Given the description of an element on the screen output the (x, y) to click on. 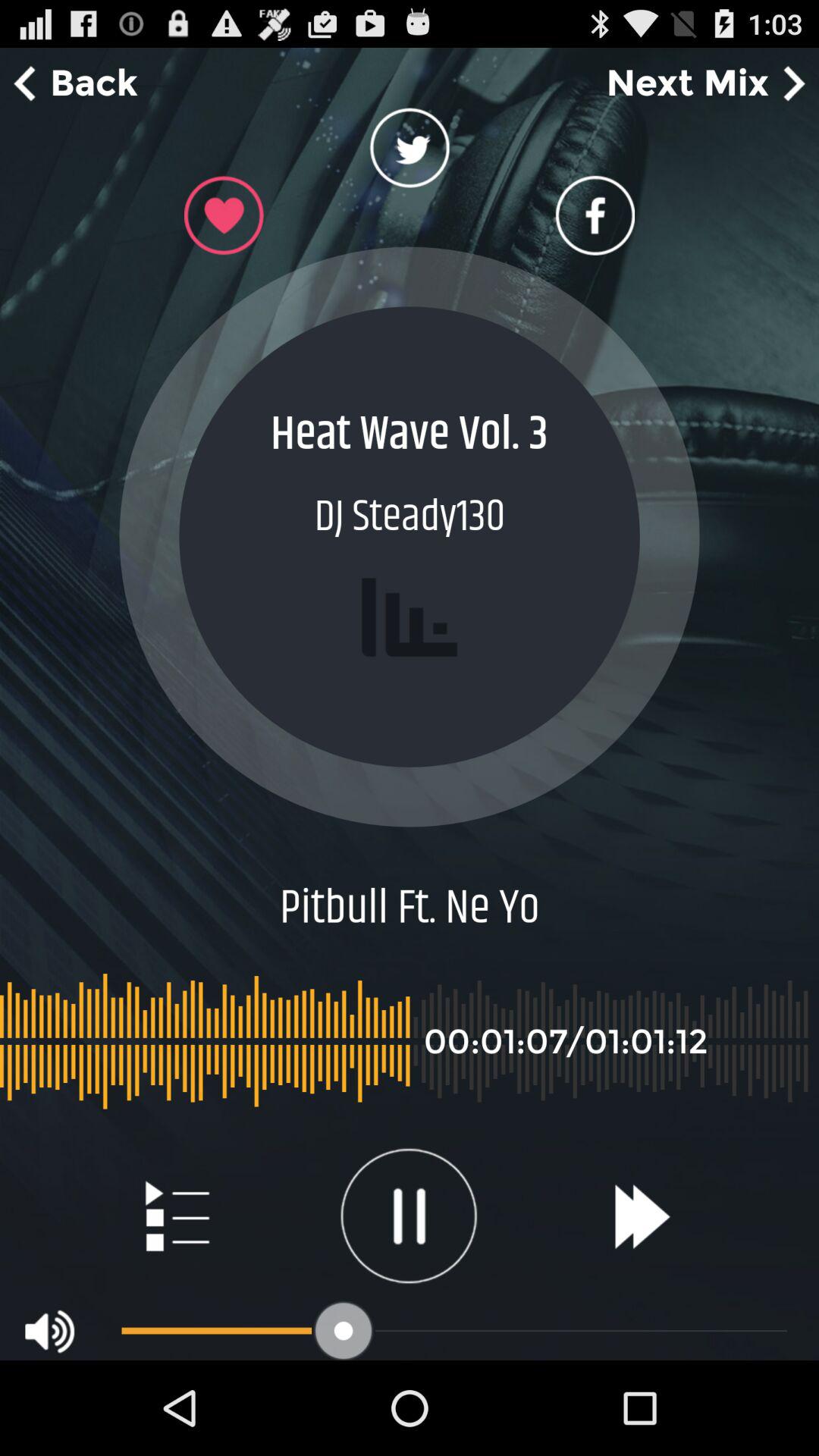
add to playlist (175, 1215)
